Given the description of an element on the screen output the (x, y) to click on. 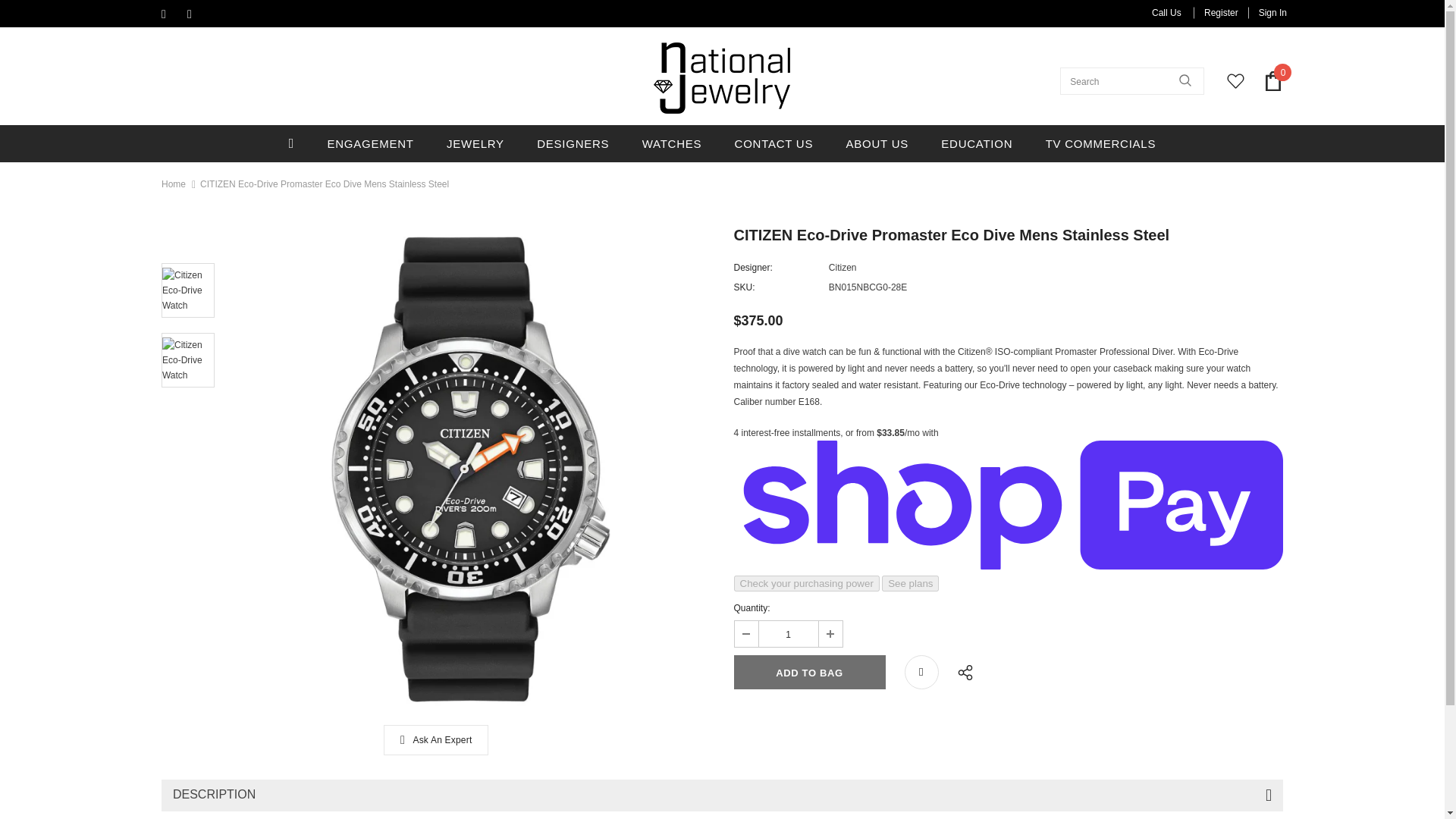
Add to Bag (809, 672)
Register (1221, 12)
Sign In (1267, 12)
1 (787, 633)
